Given the description of an element on the screen output the (x, y) to click on. 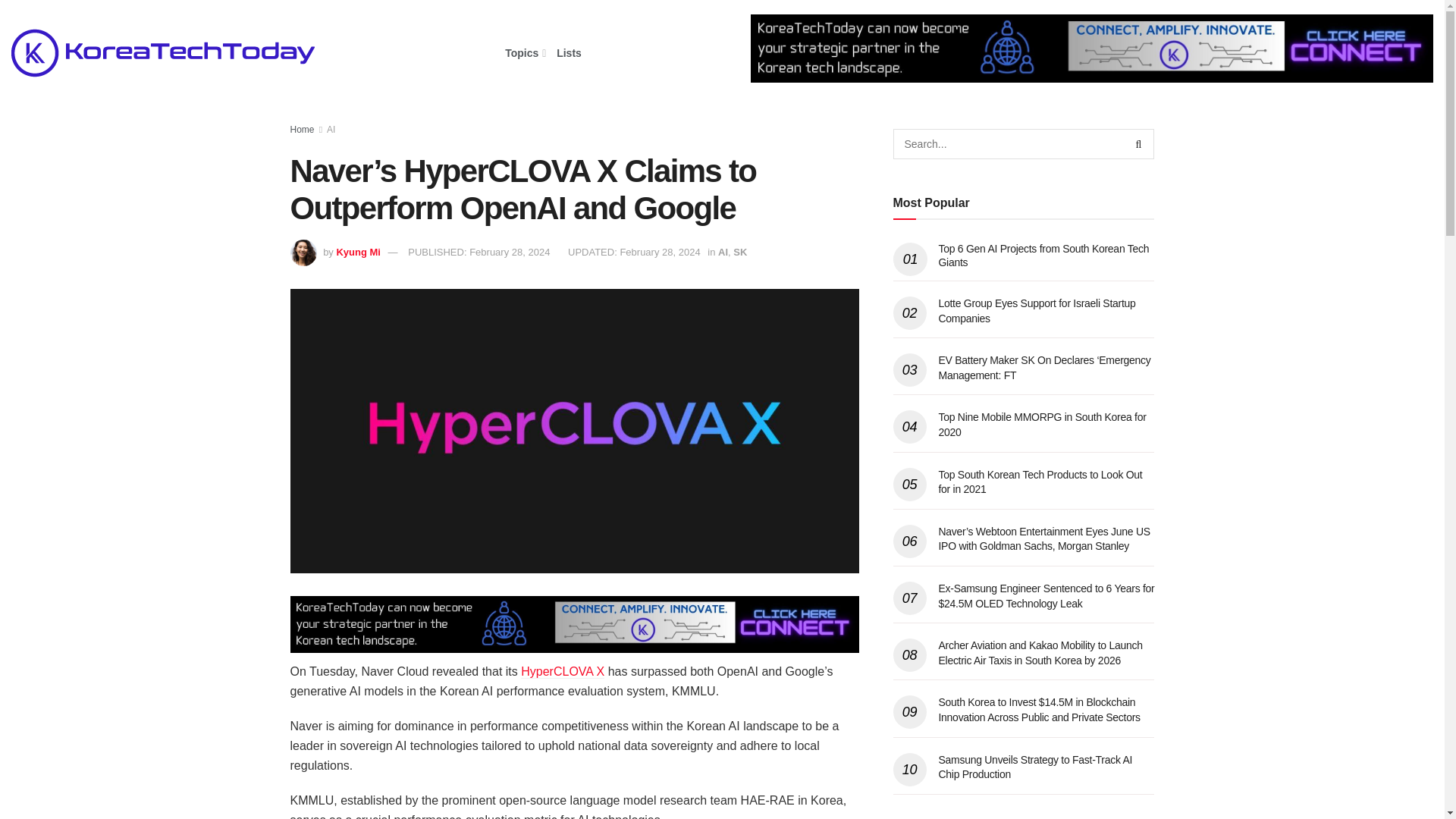
Topics (524, 53)
